Given the description of an element on the screen output the (x, y) to click on. 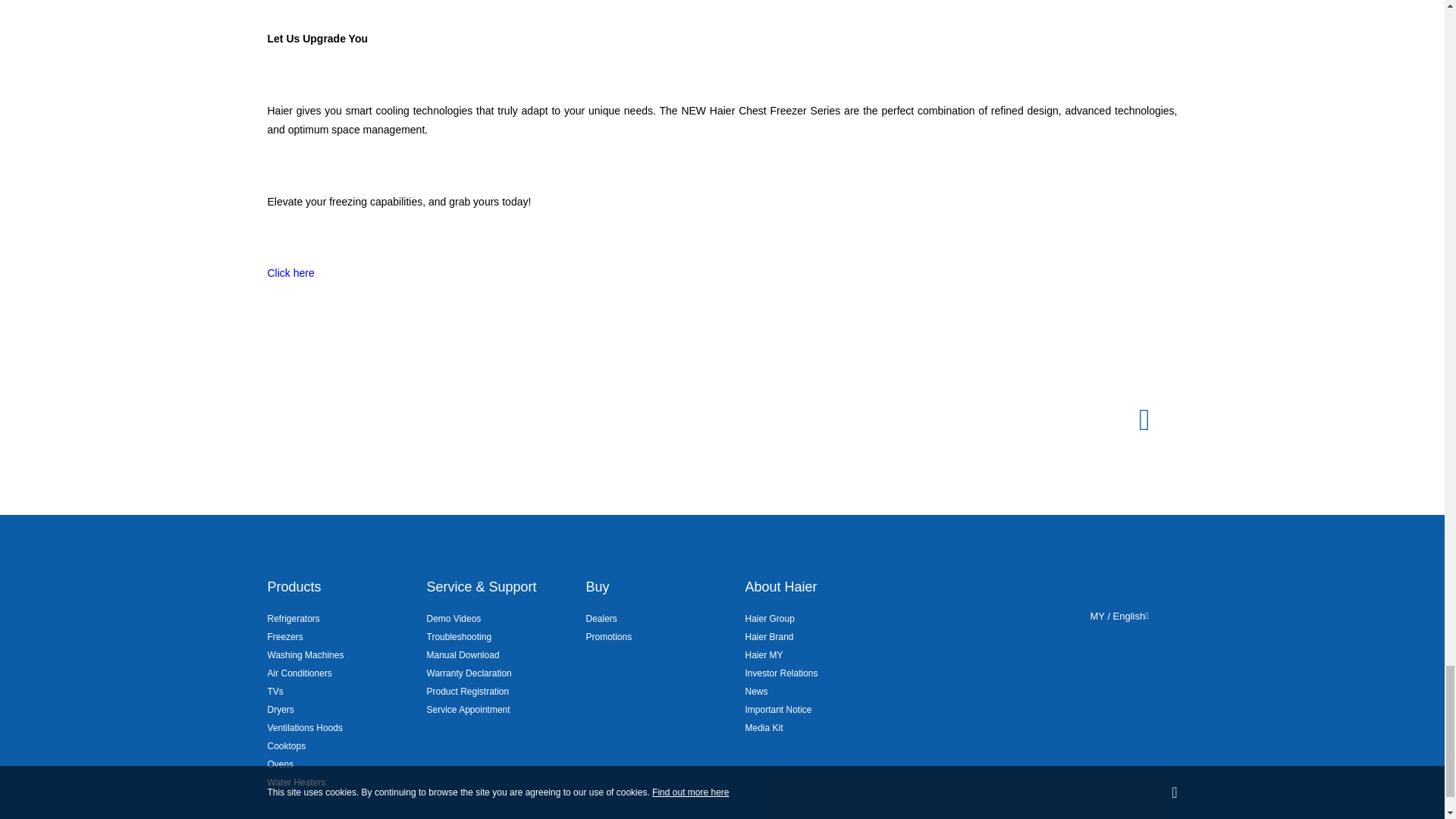
Refrigerators (292, 618)
Products (293, 586)
Click here (290, 272)
